Given the description of an element on the screen output the (x, y) to click on. 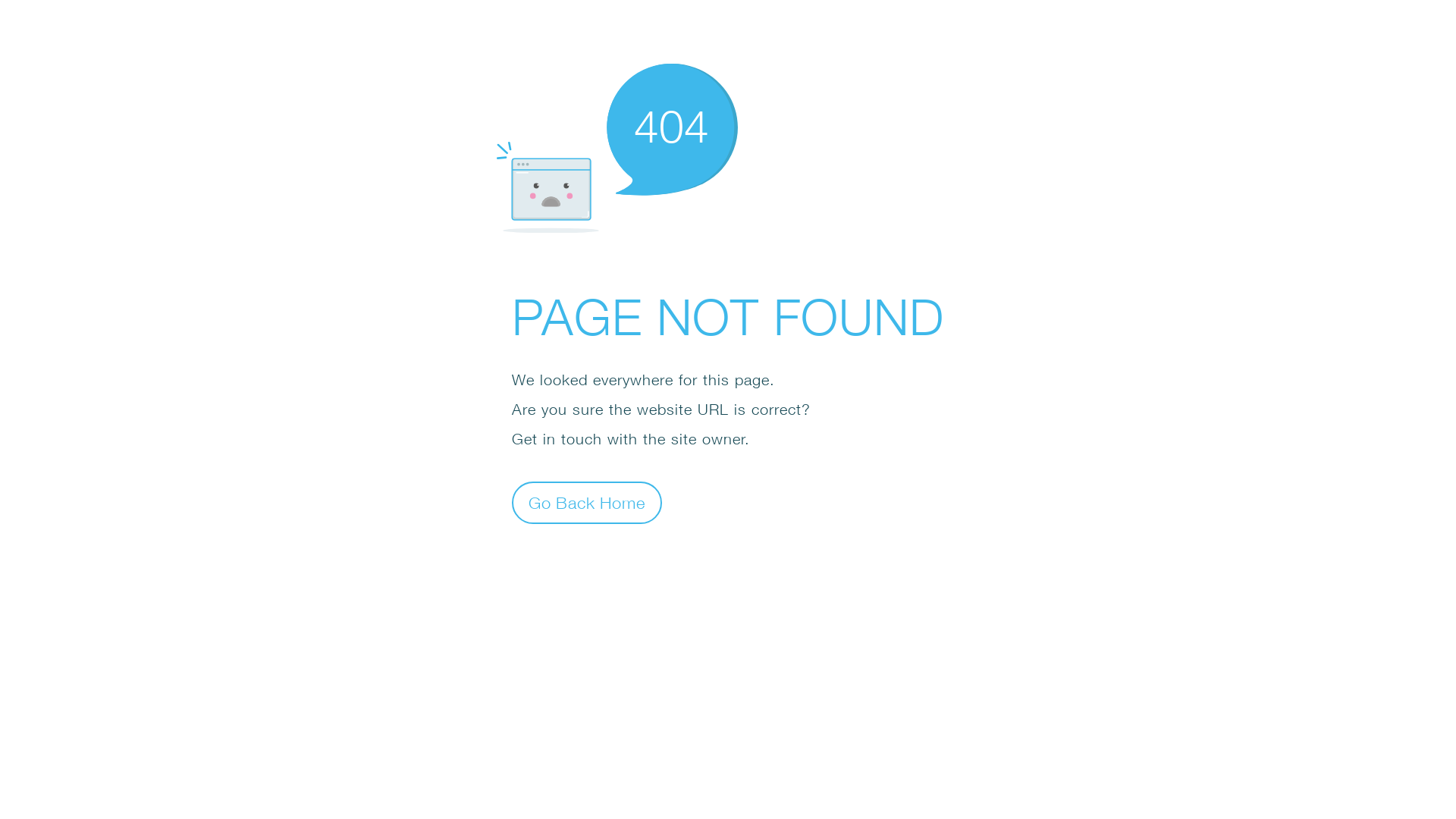
Go Back Home Element type: text (586, 502)
